Given the description of an element on the screen output the (x, y) to click on. 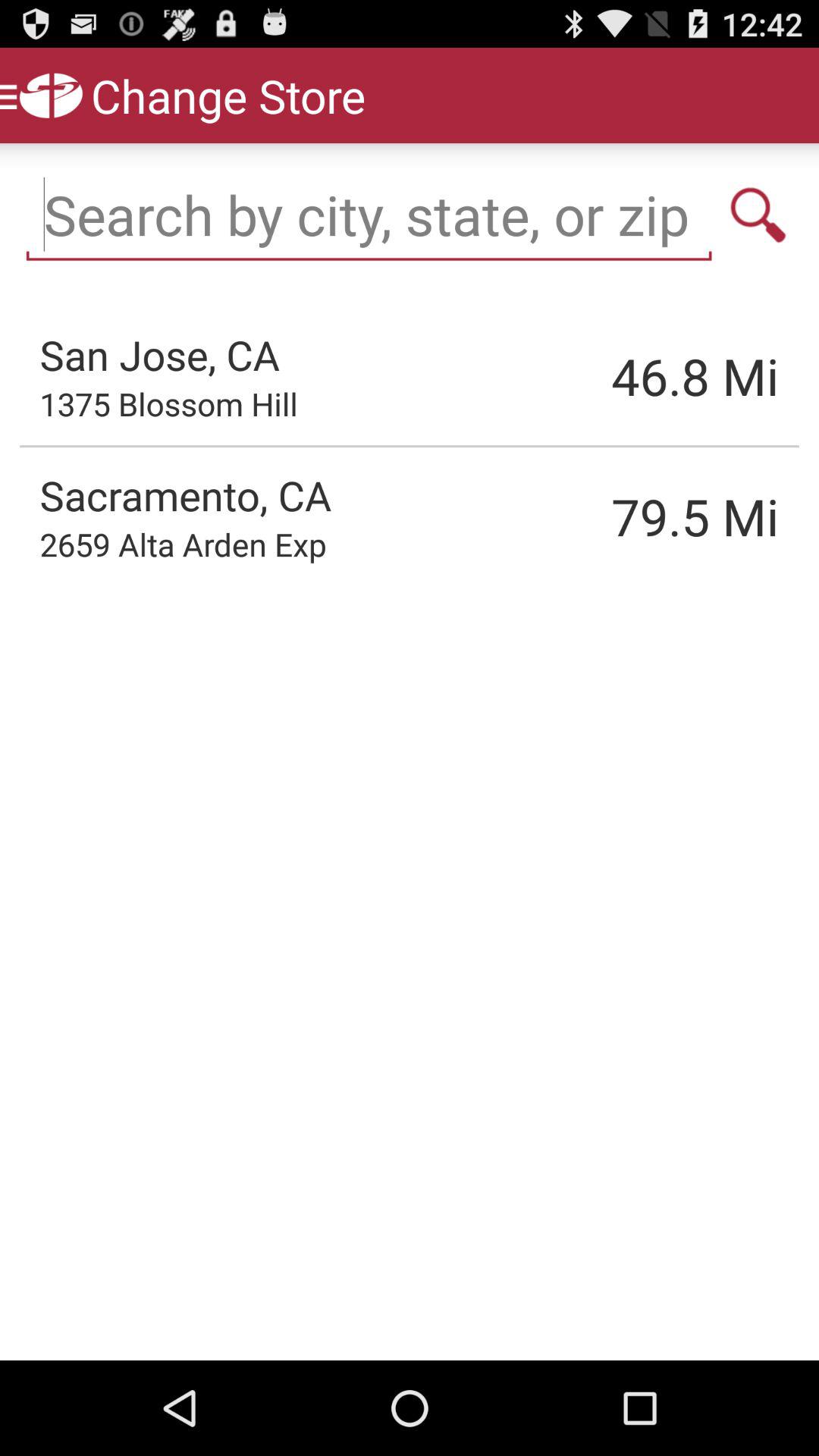
jump until the san jose, ca item (159, 354)
